Given the description of an element on the screen output the (x, y) to click on. 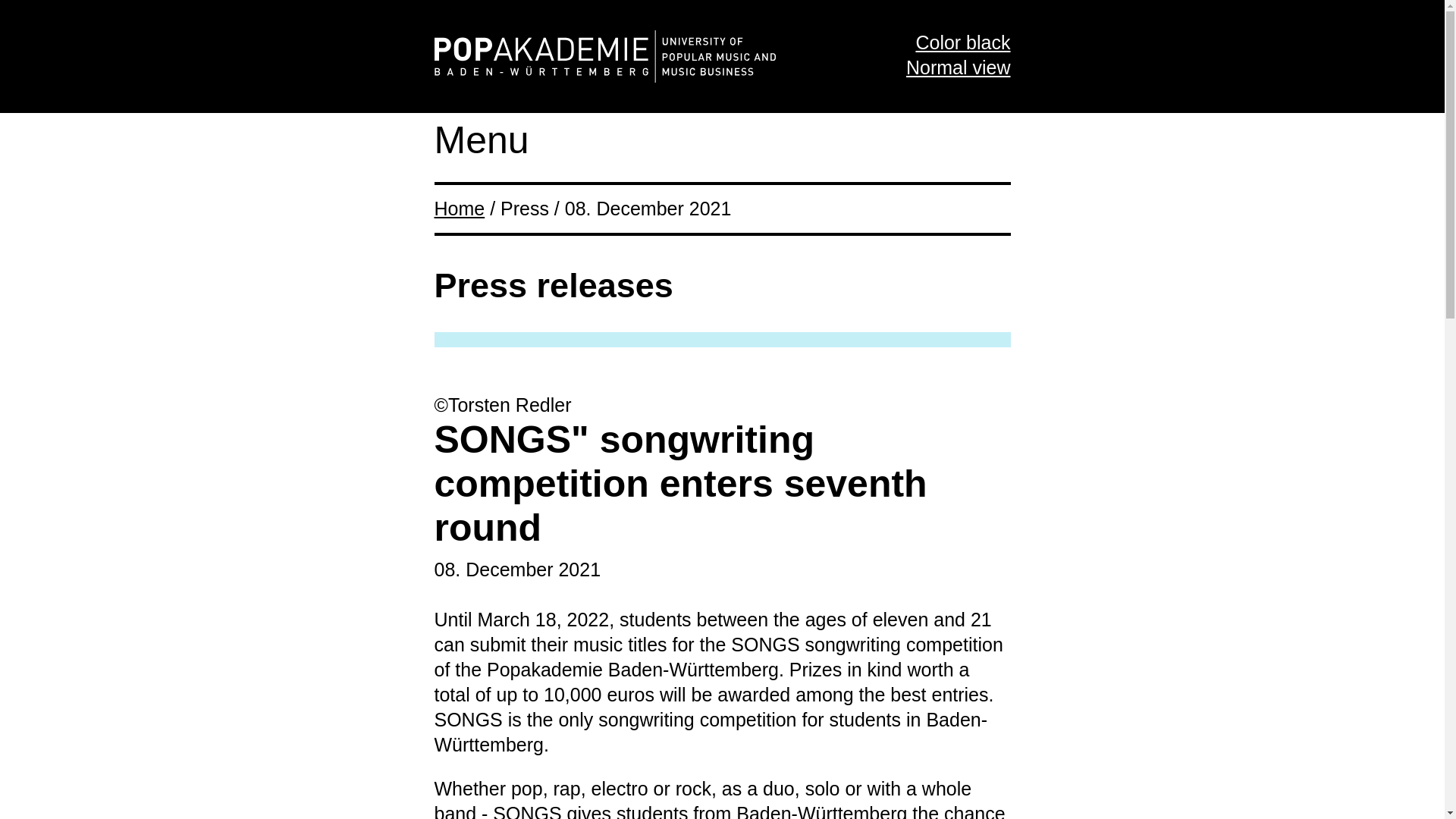
Normal view (957, 66)
Menu (480, 139)
Popakademie Mannheim Logo (603, 56)
Color black (962, 42)
